Given the description of an element on the screen output the (x, y) to click on. 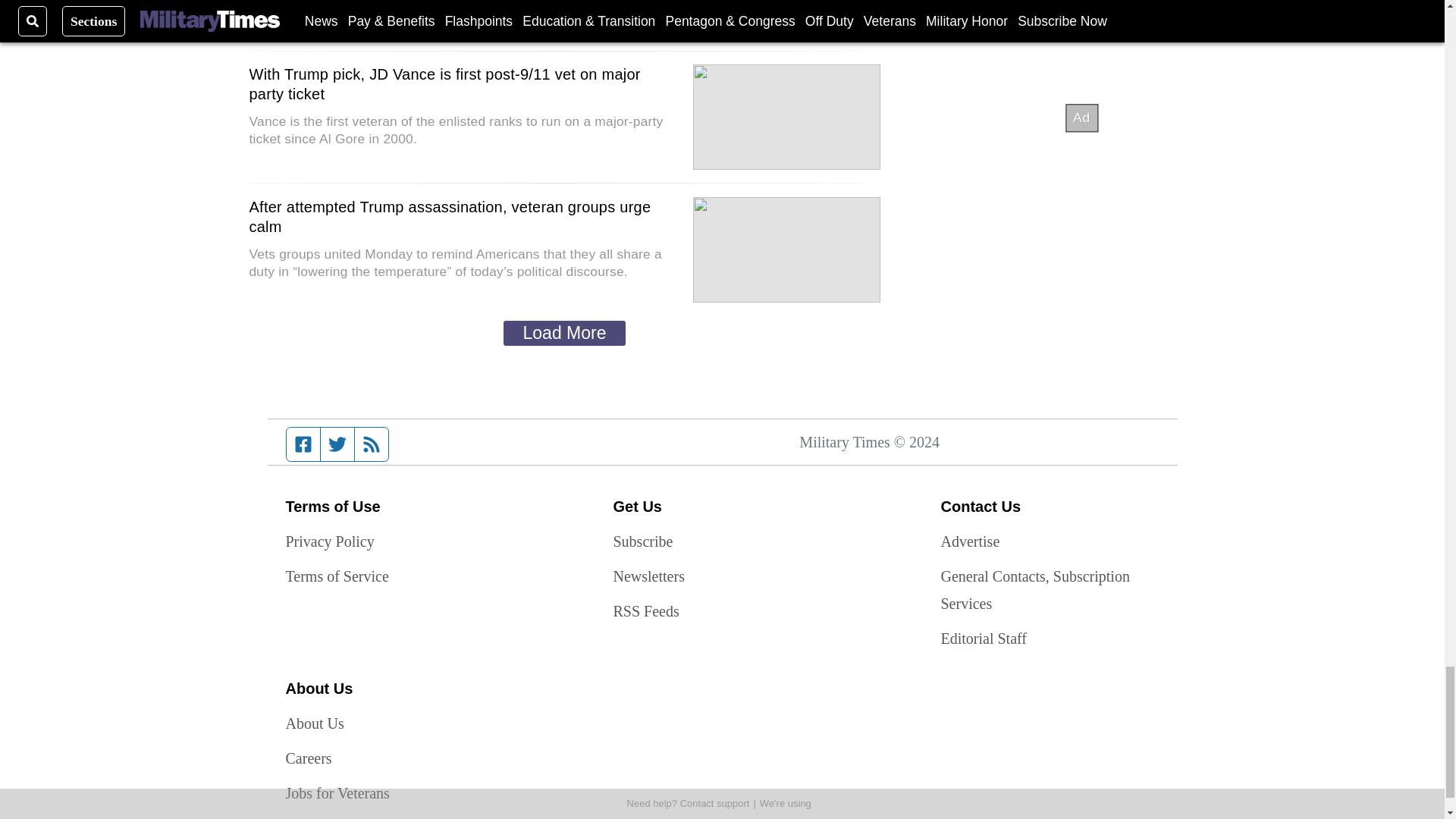
RSS feed (371, 444)
Facebook page (303, 444)
Twitter feed (336, 444)
